Given the description of an element on the screen output the (x, y) to click on. 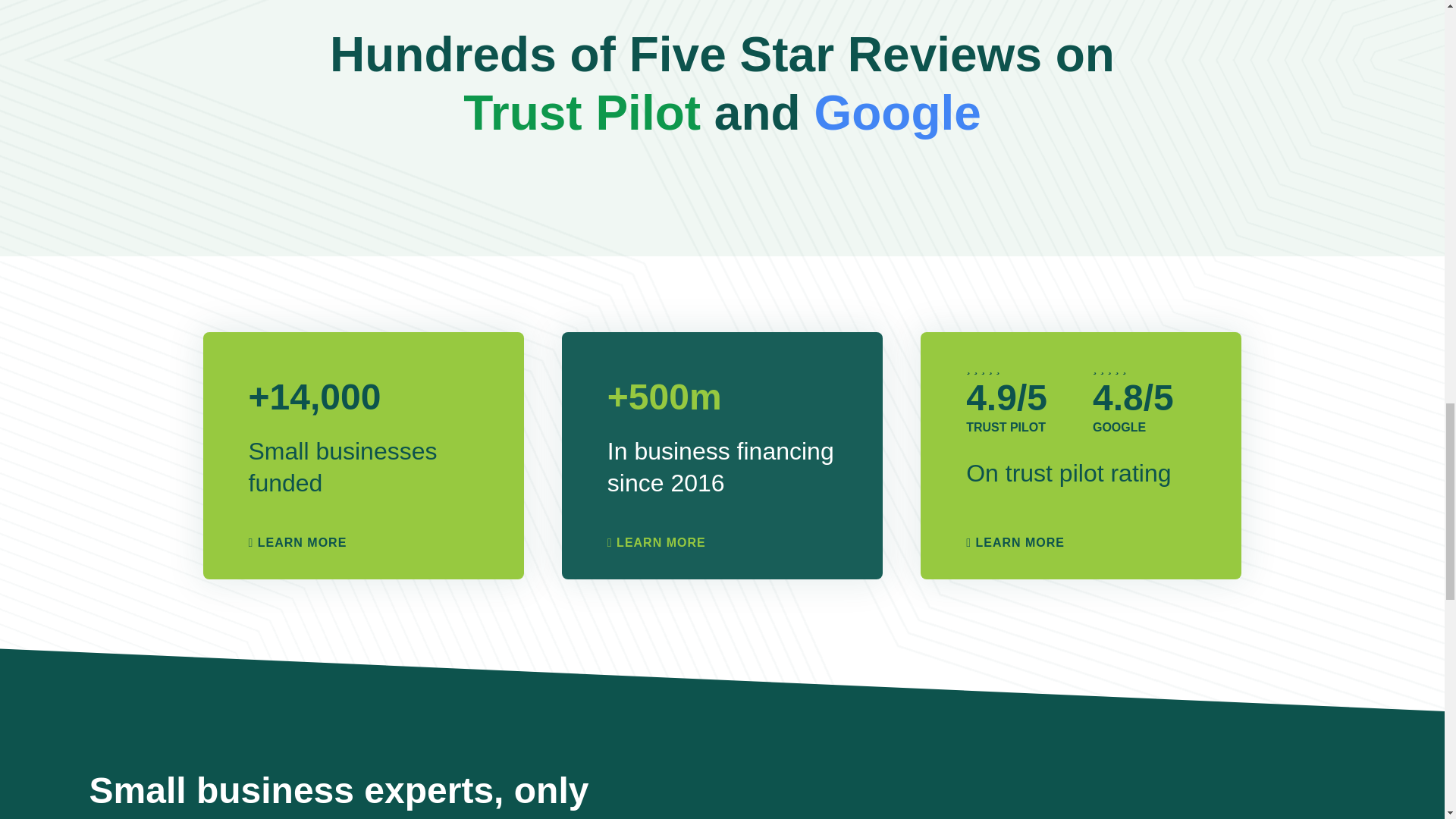
LEARN MORE (1015, 542)
LEARN MORE (297, 542)
LEARN MORE (656, 542)
